Given the description of an element on the screen output the (x, y) to click on. 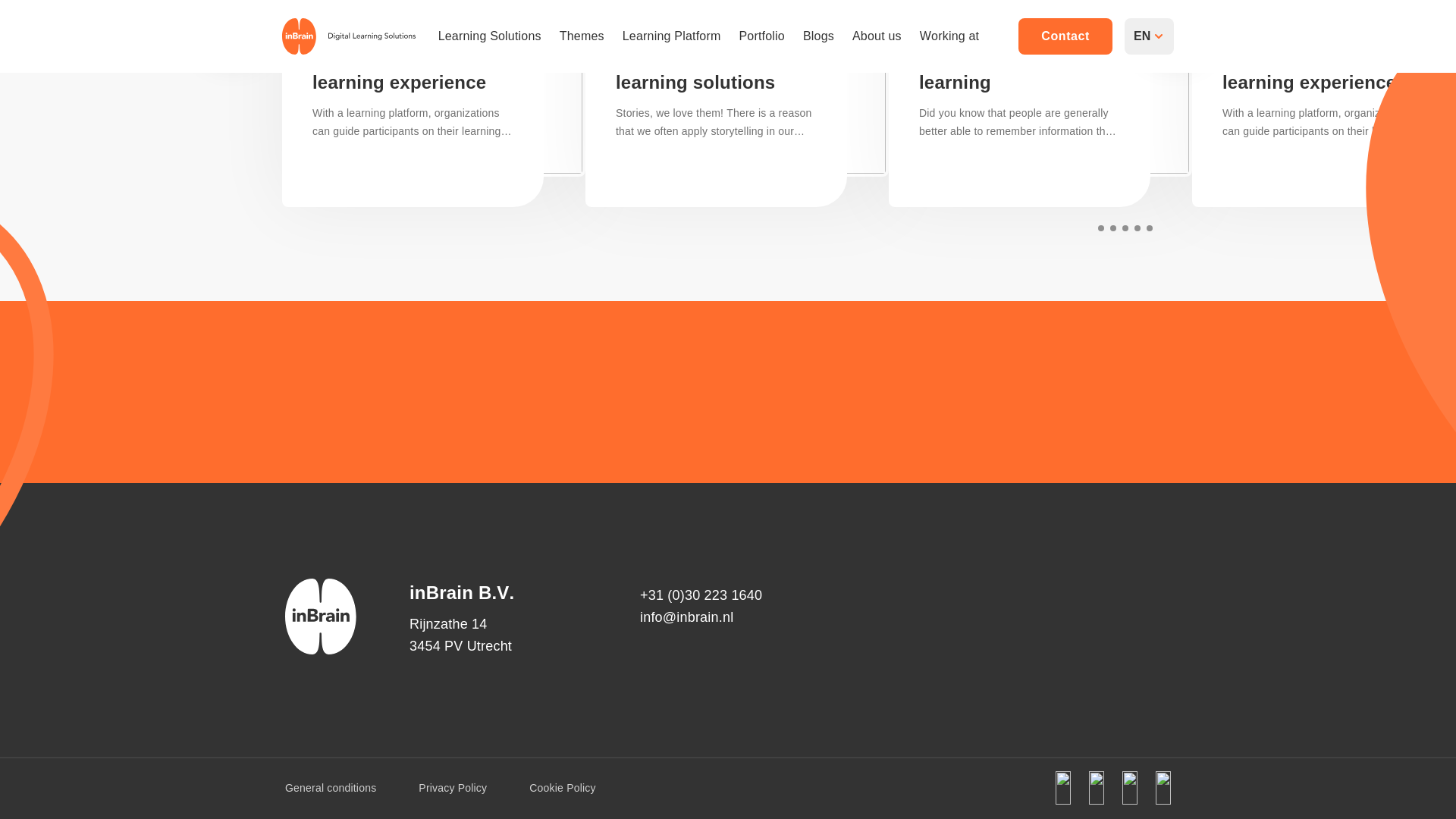
Cookie Policy (562, 787)
Privacy Policy (452, 787)
General conditions (330, 787)
